Given the description of an element on the screen output the (x, y) to click on. 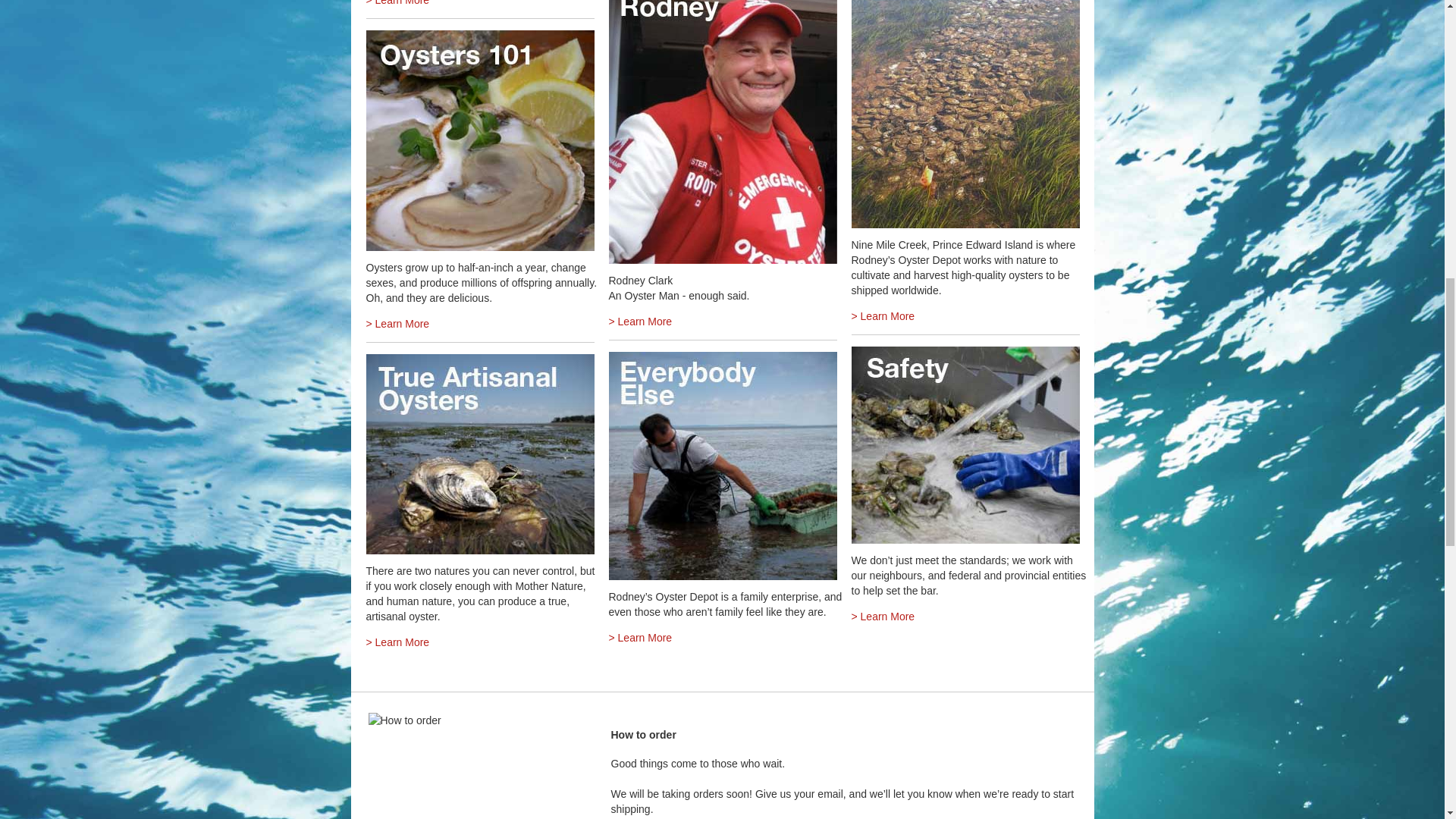
Safety (964, 444)
Lease (964, 114)
Artisanal Oysters (479, 453)
How to order (404, 720)
Everybody (721, 465)
Oyster 101 (479, 140)
